Given the description of an element on the screen output the (x, y) to click on. 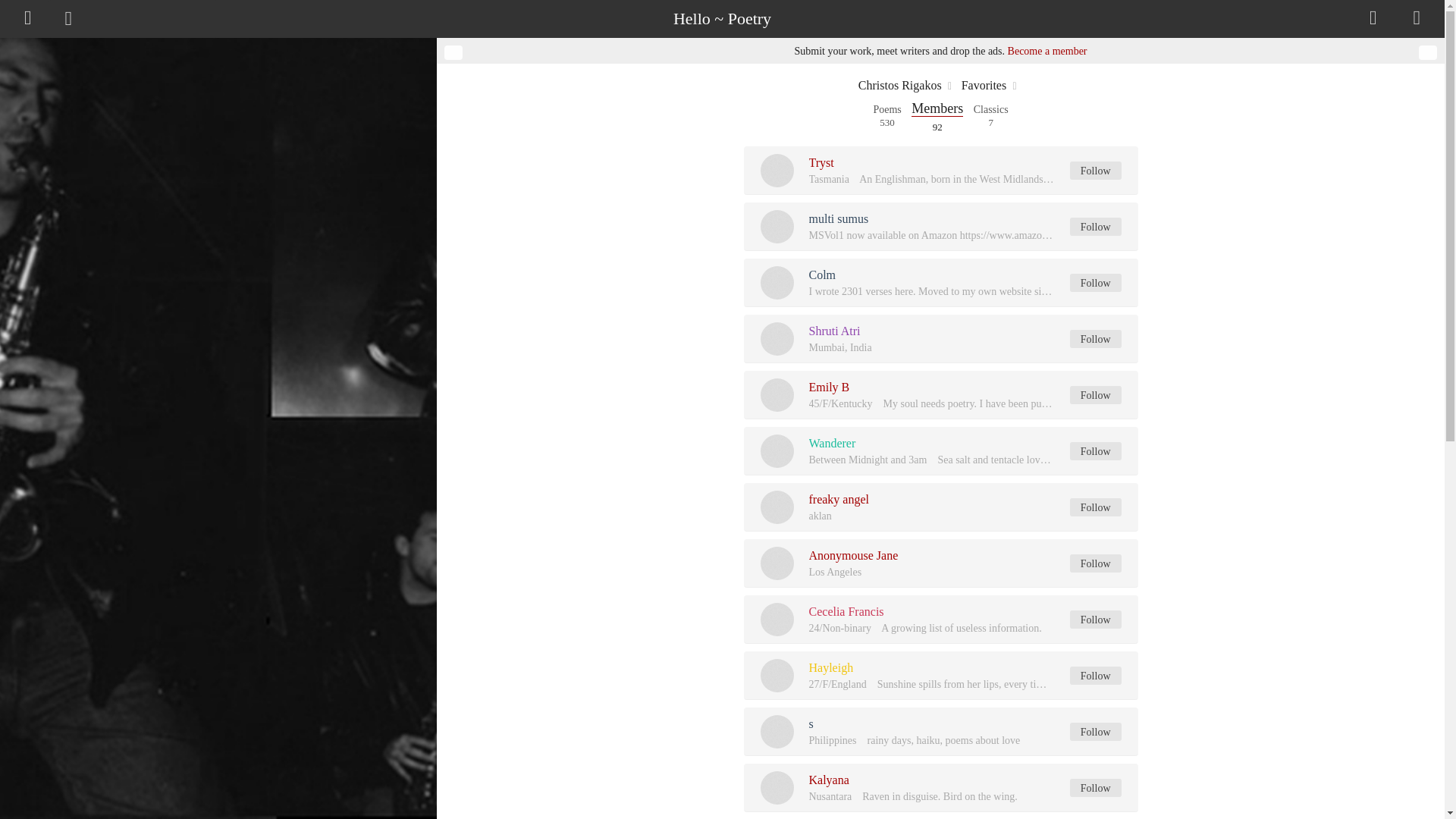
Follow (1095, 451)
Tryst (820, 162)
Shruti Atri (834, 330)
Favorites (983, 85)
Wanderer (886, 110)
Colm (936, 109)
Follow (832, 443)
Follow (821, 274)
Christos Rigakos (1095, 170)
Become a member (1095, 339)
Log in to your account (900, 85)
Request an invite (991, 110)
